Given the description of an element on the screen output the (x, y) to click on. 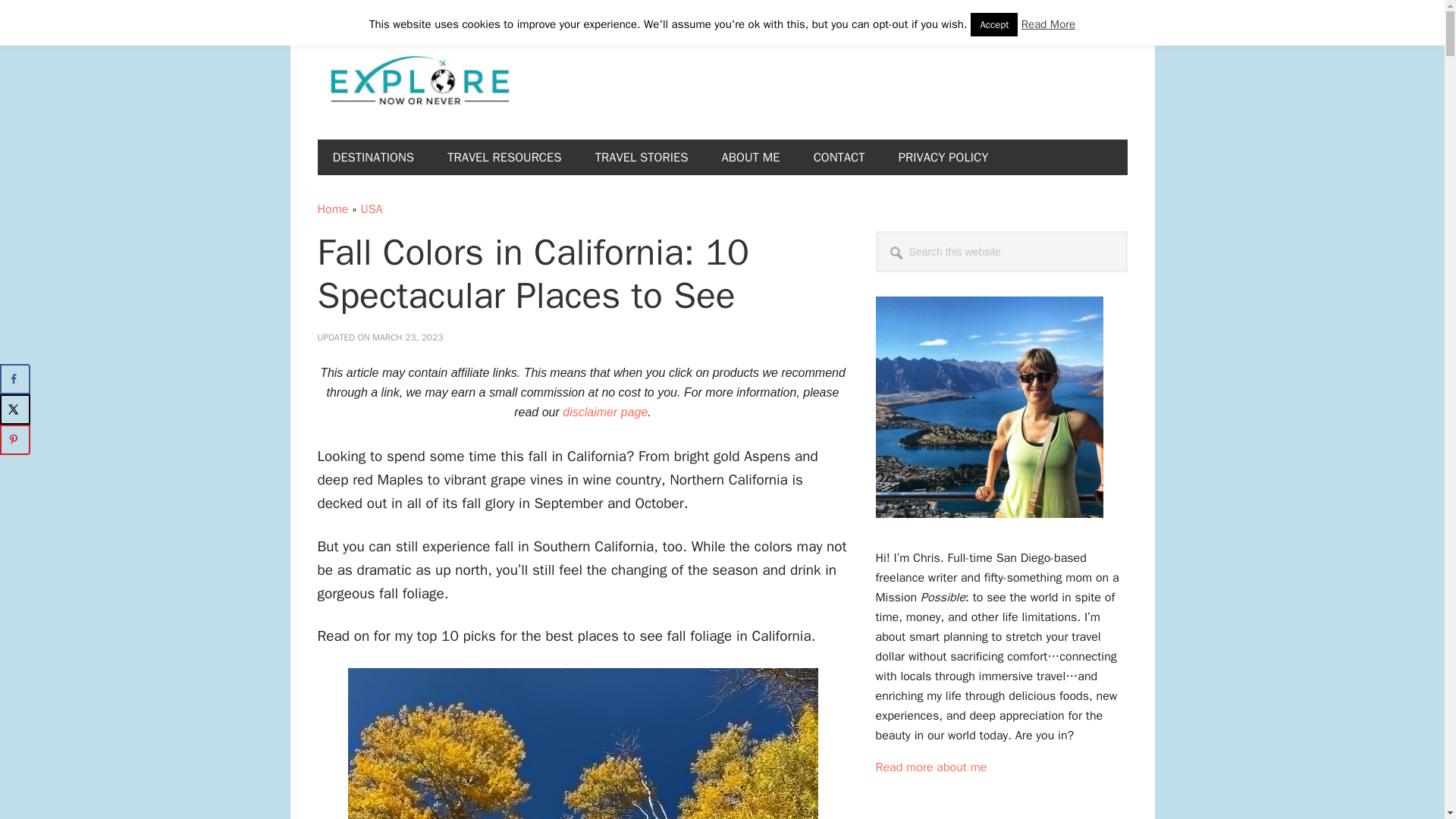
EXPLORE NOW OR NEVER (419, 81)
